Given the description of an element on the screen output the (x, y) to click on. 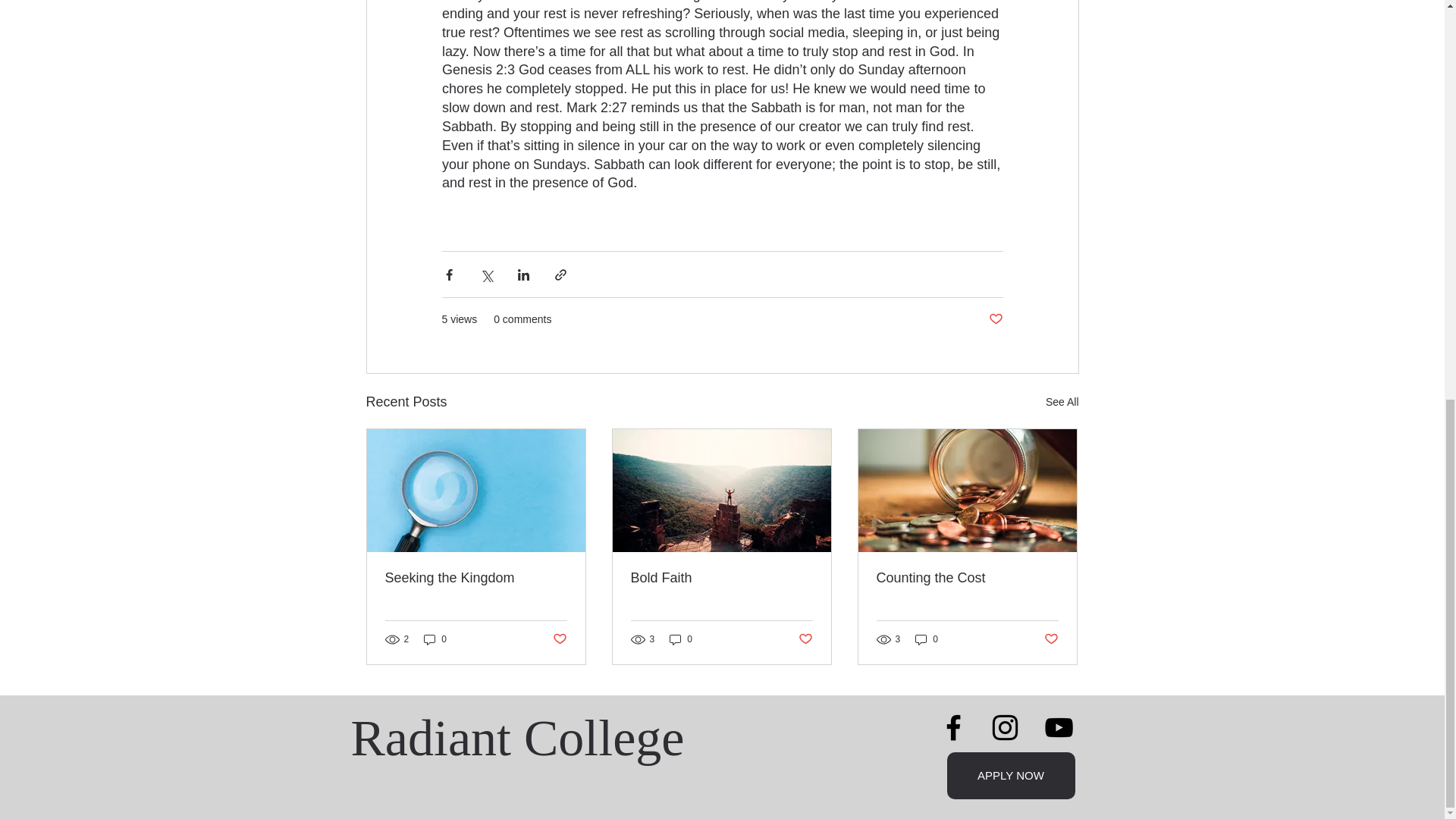
Seeking the Kingdom (476, 578)
See All (1061, 402)
Counting the Cost (967, 578)
Post not marked as liked (1050, 639)
0 (681, 639)
Post not marked as liked (558, 639)
0 (435, 639)
Post not marked as liked (995, 319)
APPLY NOW (1010, 775)
Bold Faith (721, 578)
